Given the description of an element on the screen output the (x, y) to click on. 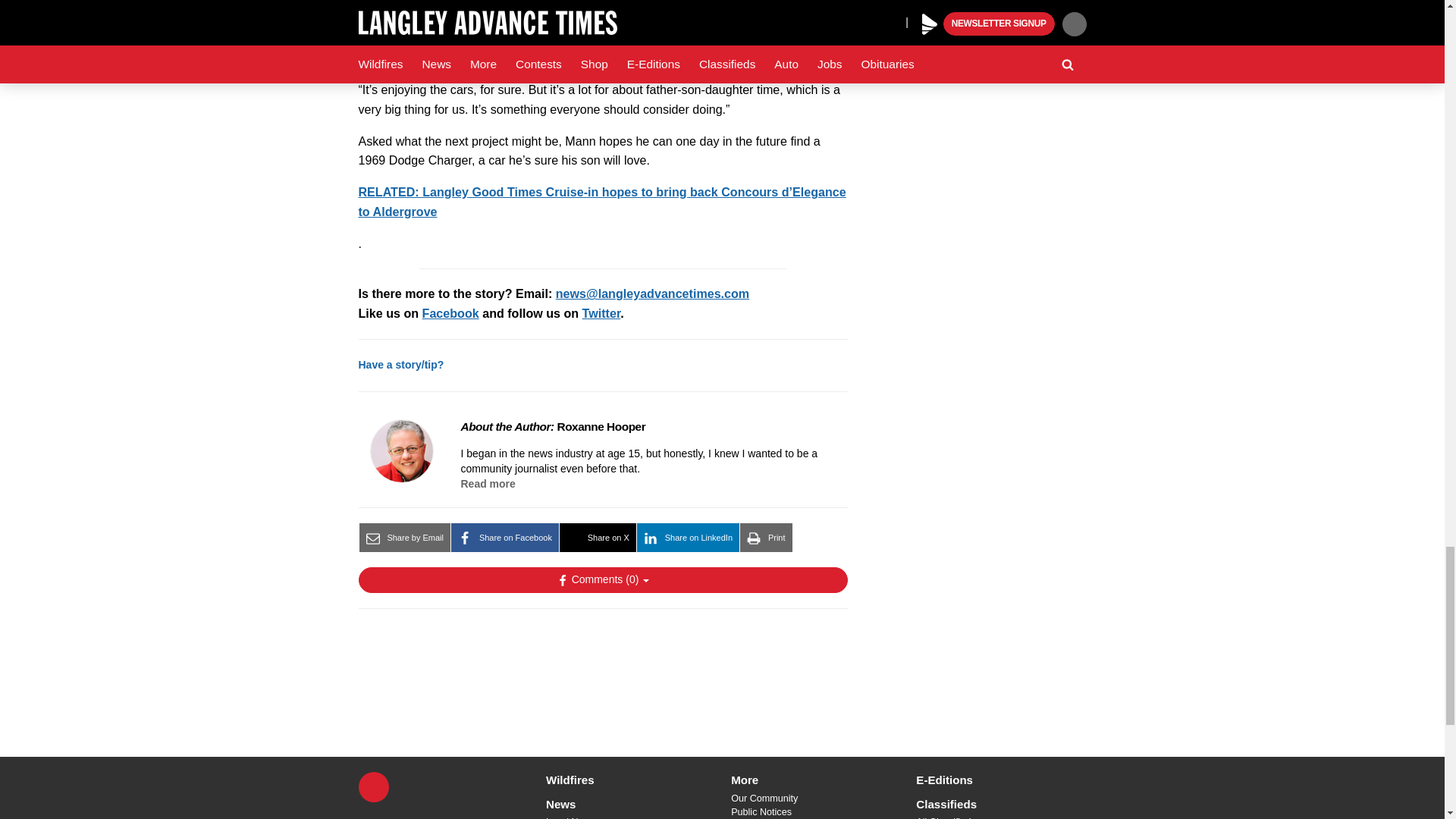
X (373, 787)
Show Comments (602, 579)
